Given the description of an element on the screen output the (x, y) to click on. 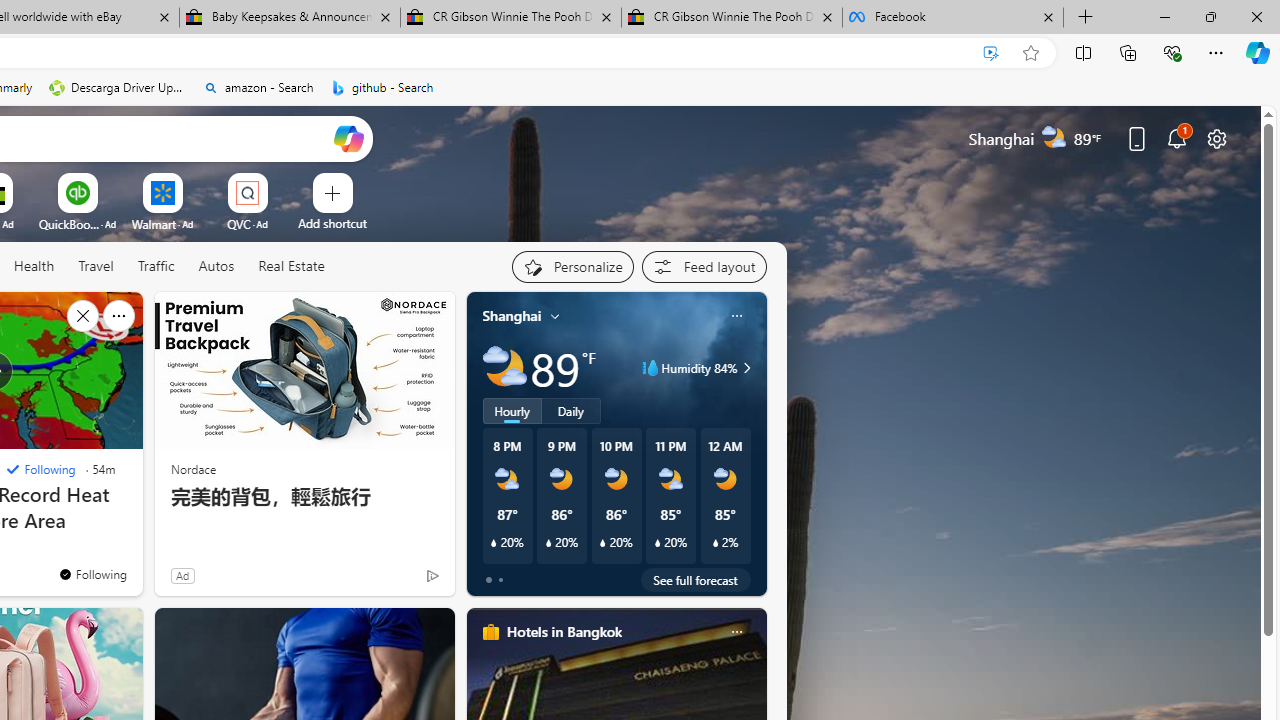
hotels-header-icon (490, 632)
Descarga Driver Updater (118, 88)
Partly cloudy (504, 368)
Class: weather-arrow-glyph (746, 367)
Daily (571, 411)
Class: weather-current-precipitation-glyph (715, 543)
